Given the description of an element on the screen output the (x, y) to click on. 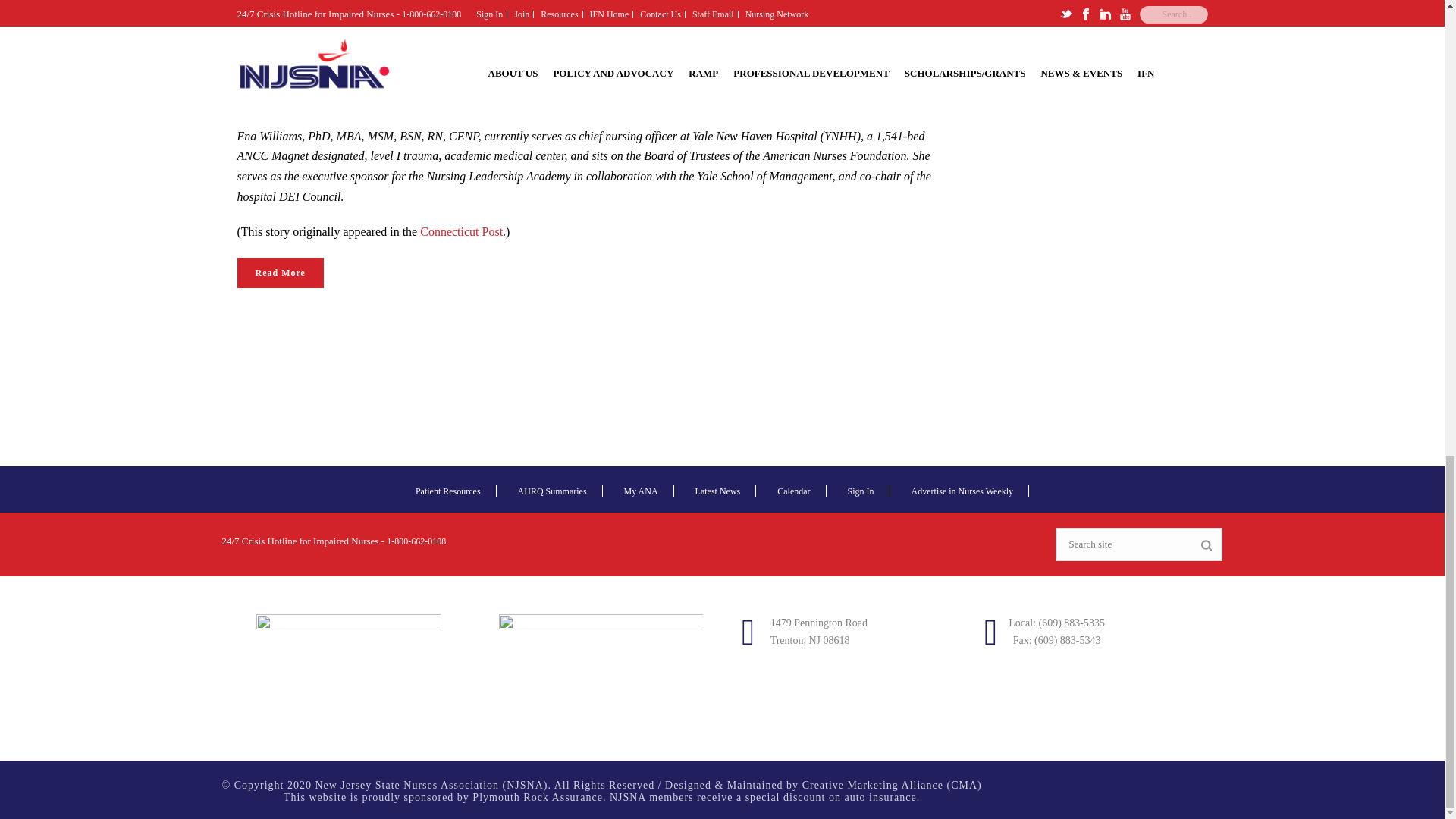
Read More (279, 272)
